Given the description of an element on the screen output the (x, y) to click on. 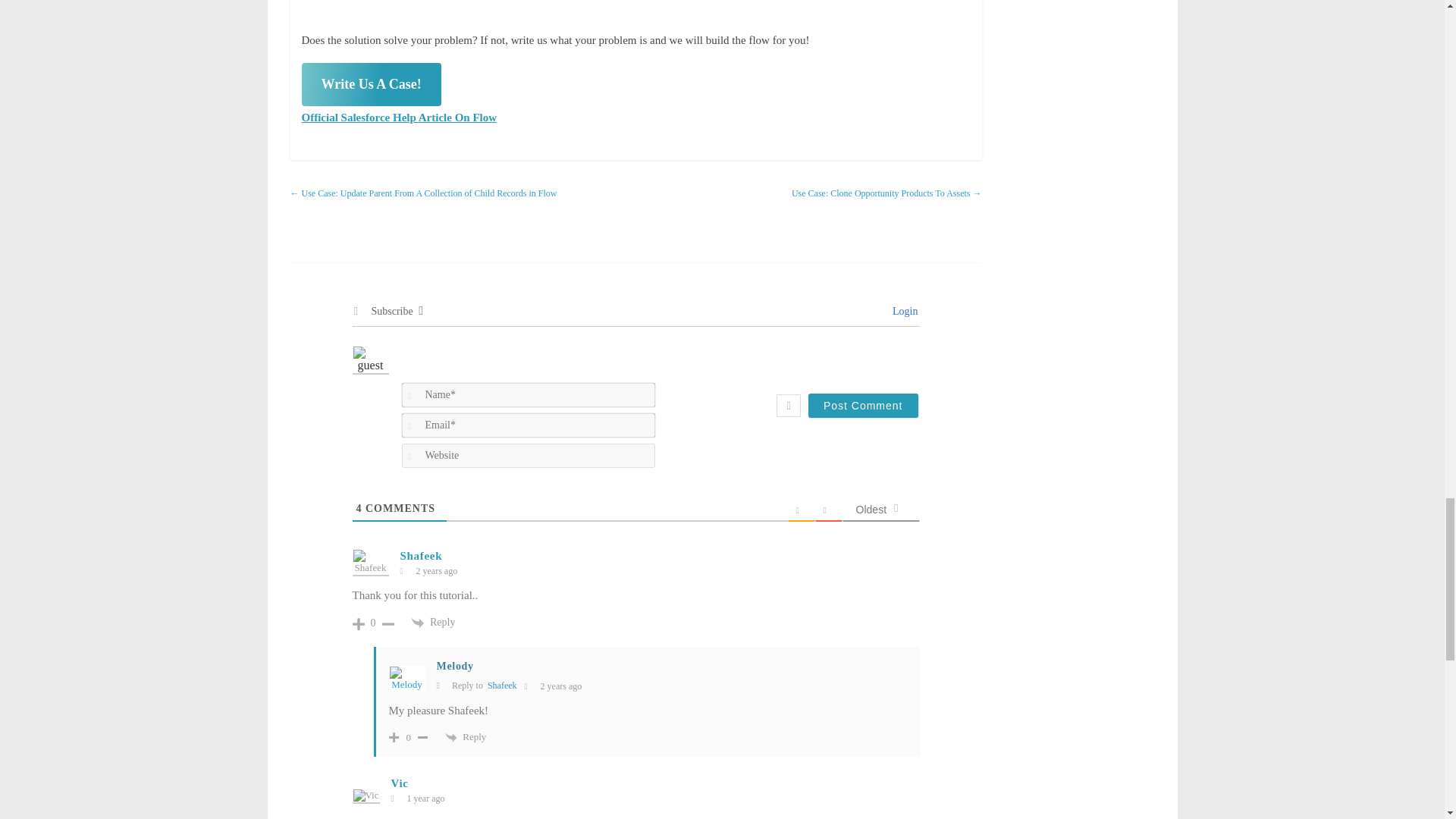
Write Us A Case! (371, 84)
Official Salesforce Help Article On Flow (399, 117)
Post Comment (863, 405)
